Given the description of an element on the screen output the (x, y) to click on. 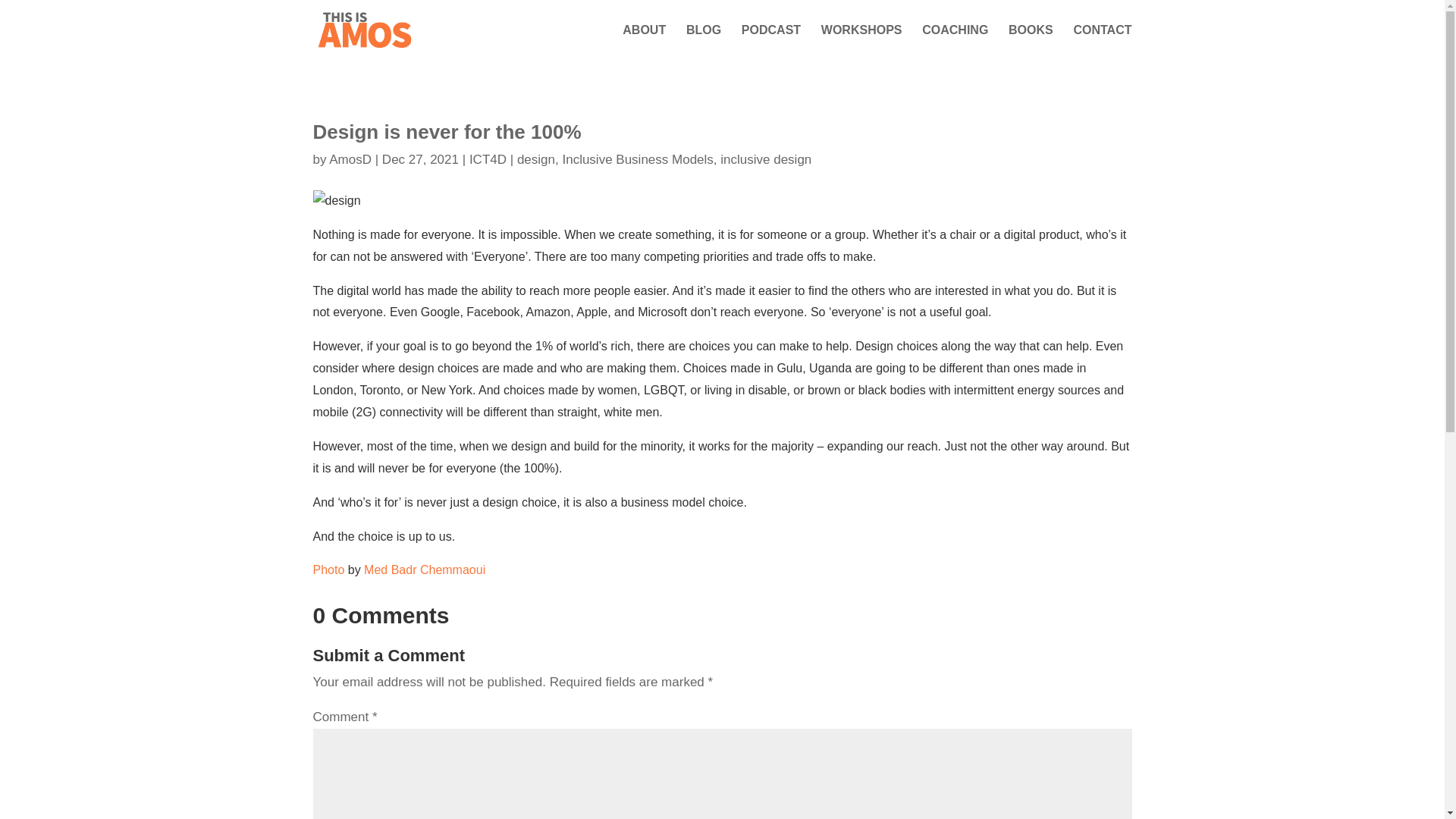
ICT4D (487, 159)
CONTACT (1102, 42)
Photo (328, 569)
design (537, 159)
Posts by AmosD (350, 159)
Inclusive Business Models (639, 159)
PODCAST (770, 42)
Med Badr Chemmaoui (424, 569)
AmosD (350, 159)
COACHING (954, 42)
